Given the description of an element on the screen output the (x, y) to click on. 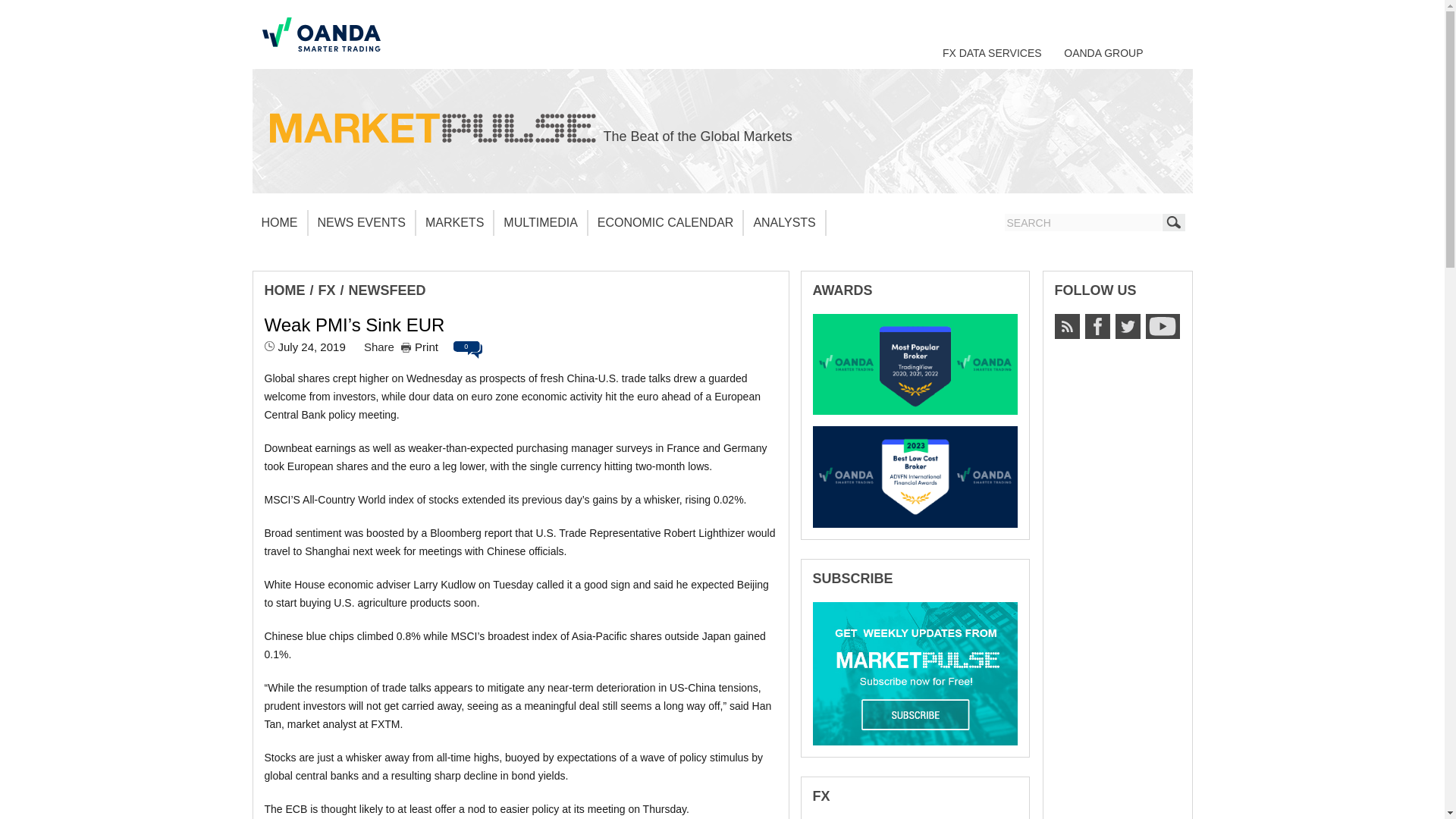
RSS (1066, 326)
FX DATA SERVICES (992, 52)
Share (379, 346)
NEWSFEED (387, 290)
MARKETS (454, 222)
Twitter (1127, 326)
ECONOMIC CALENDAR (666, 222)
FX (327, 290)
ANALYSTS (784, 222)
HOME (279, 222)
